Given the description of an element on the screen output the (x, y) to click on. 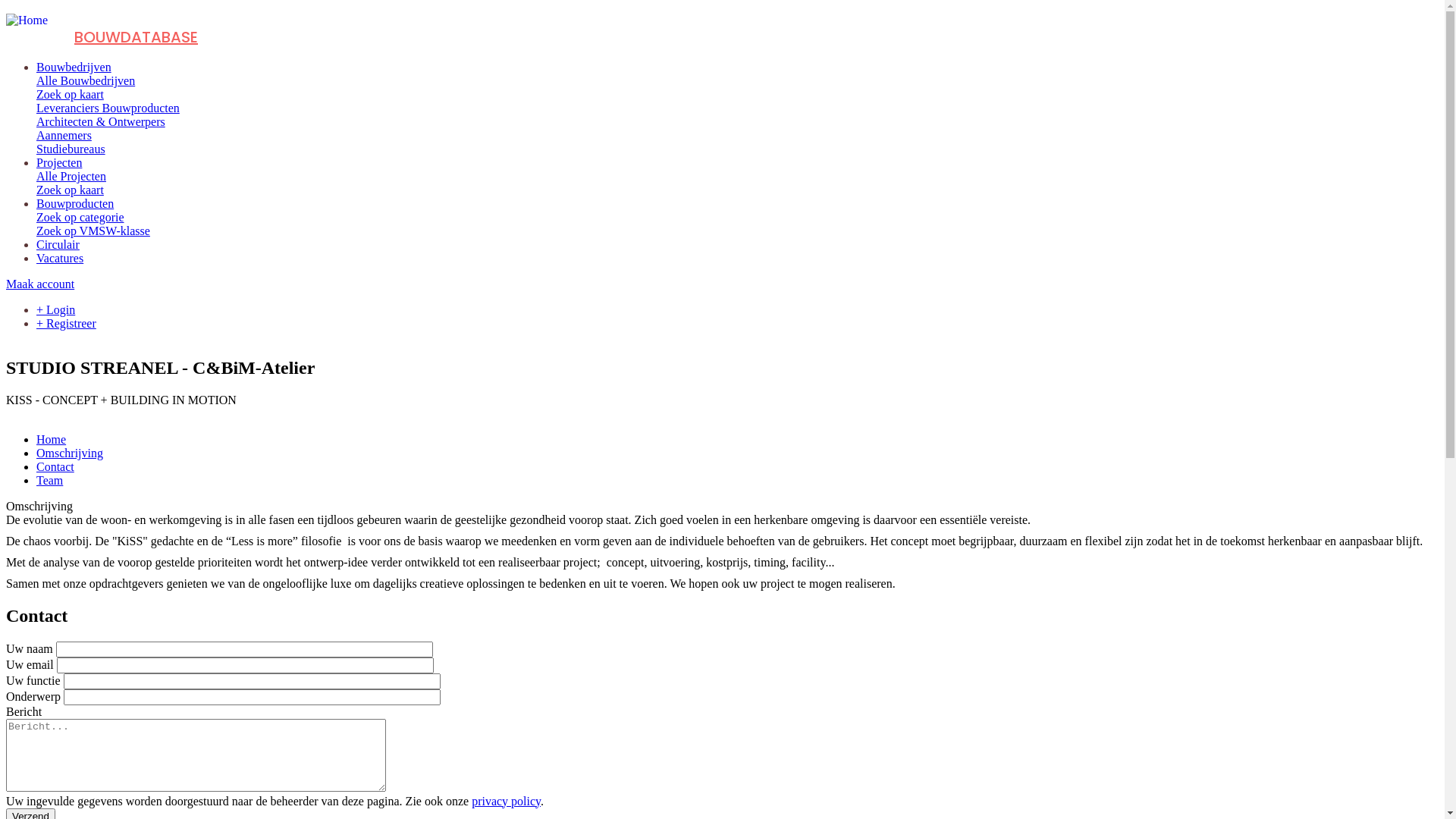
Maak account Element type: text (40, 283)
BOUWDATABASE Element type: text (135, 36)
Alle Bouwbedrijven Element type: text (85, 80)
Projecten Element type: text (58, 162)
Bouwproducten Element type: text (74, 203)
Zoek op VMSW-klasse Element type: text (93, 230)
Zoek op kaart Element type: text (69, 189)
Studiebureaus Element type: text (70, 148)
Leveranciers Bouwproducten Element type: text (107, 107)
Vacatures Element type: text (59, 257)
Zoek op kaart Element type: text (69, 93)
Omschrijving Element type: text (69, 452)
Bouwbedrijven Element type: text (73, 66)
privacy policy Element type: text (505, 800)
Alle Projecten Element type: text (71, 175)
Architecten & Ontwerpers Element type: text (100, 121)
Aannemers Element type: text (63, 134)
Home Element type: hover (26, 20)
Contact Element type: text (55, 466)
+ Login Element type: text (55, 309)
Home Element type: text (50, 439)
Circulair Element type: text (57, 244)
Team Element type: text (49, 479)
Zoek op categorie Element type: text (80, 216)
+ Registreer Element type: text (66, 322)
